Given the description of an element on the screen output the (x, y) to click on. 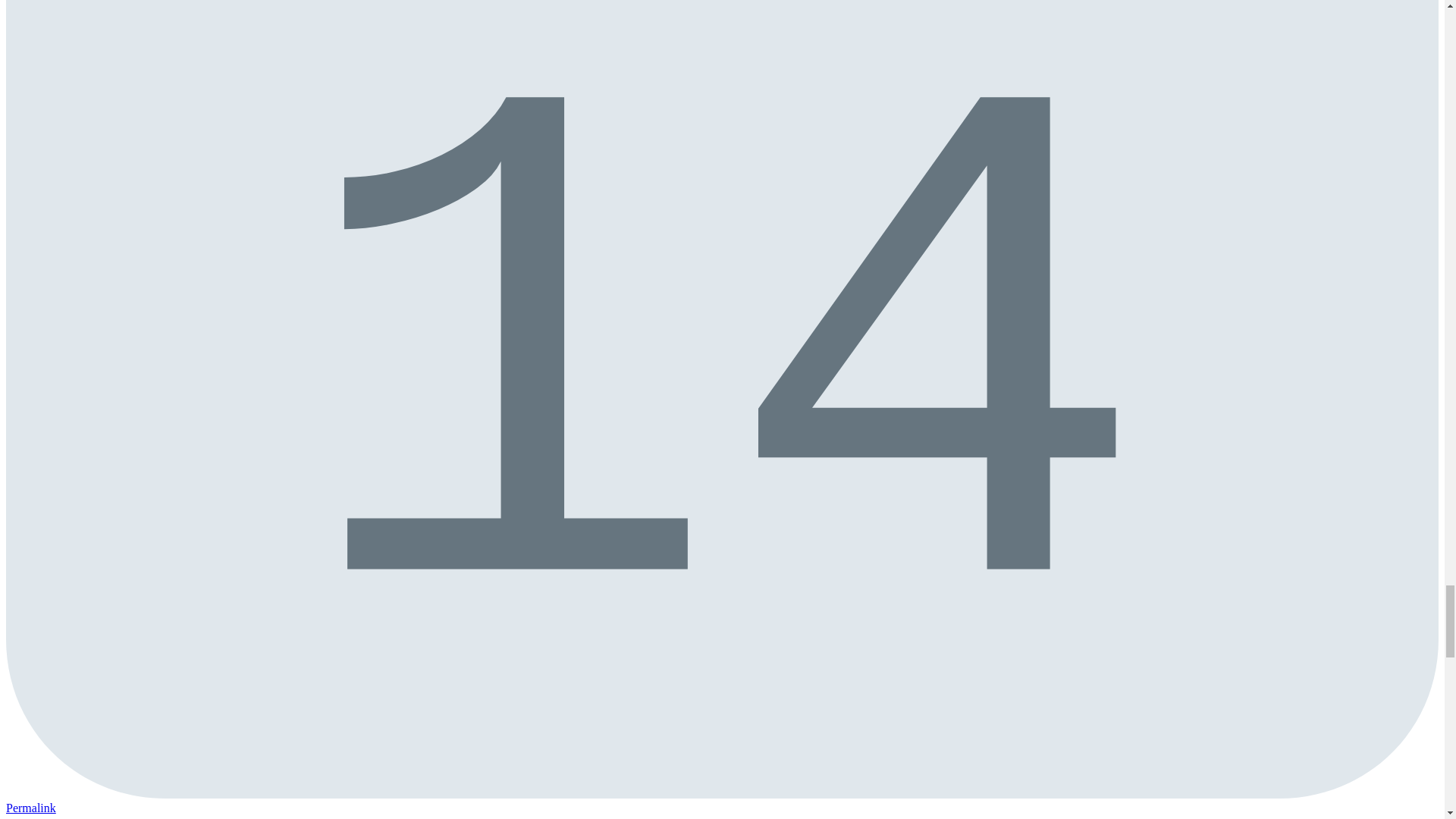
Permalink (30, 807)
